Given the description of an element on the screen output the (x, y) to click on. 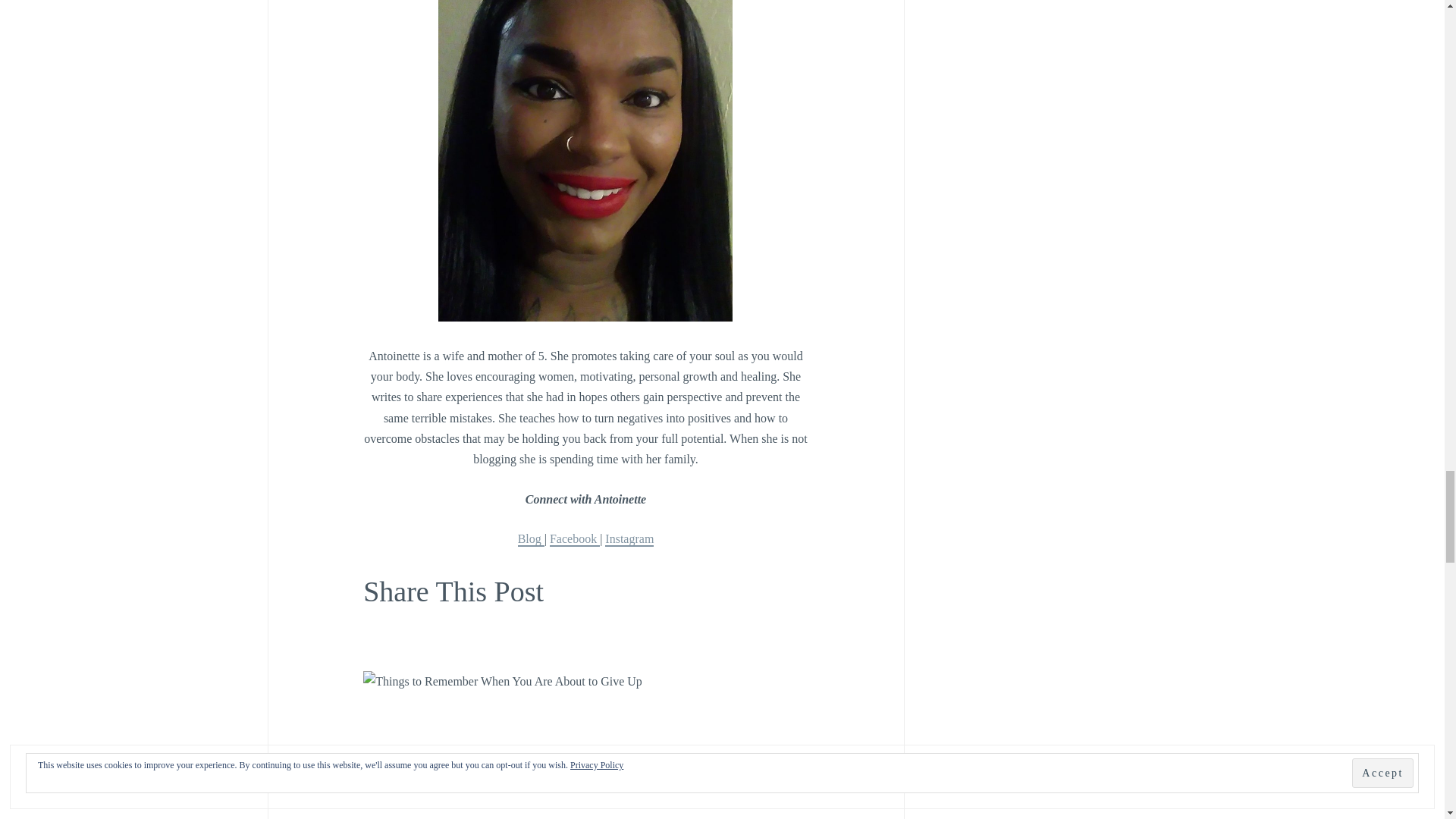
Blog (531, 539)
Instagram (629, 539)
Facebook (574, 539)
